Given the description of an element on the screen output the (x, y) to click on. 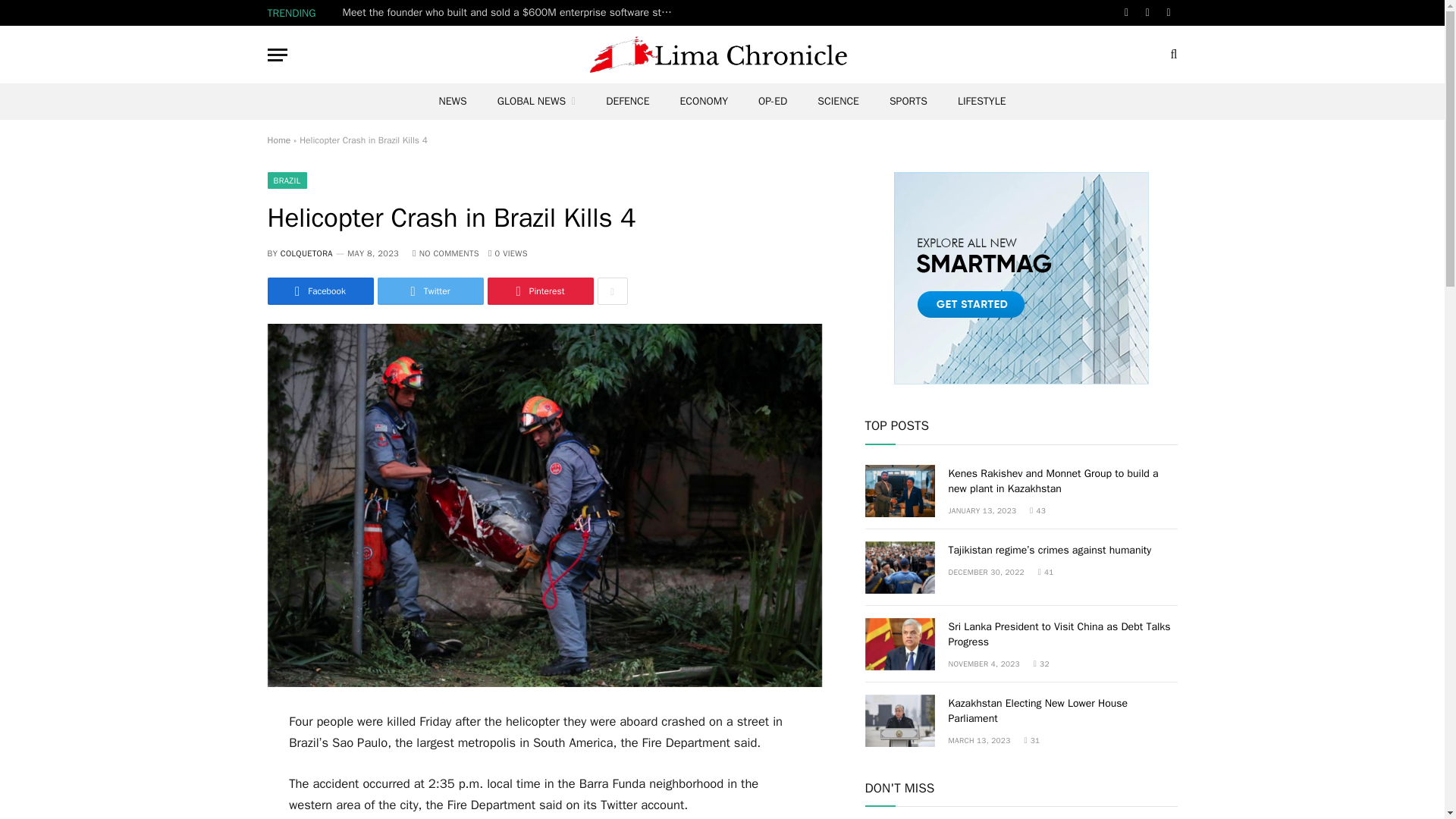
Posts by Colquetora (307, 253)
Lima Chronicle (722, 54)
Share on Pinterest (539, 290)
Share on Facebook (319, 290)
0 Article Views (507, 253)
Show More Social Sharing (611, 290)
